Given the description of an element on the screen output the (x, y) to click on. 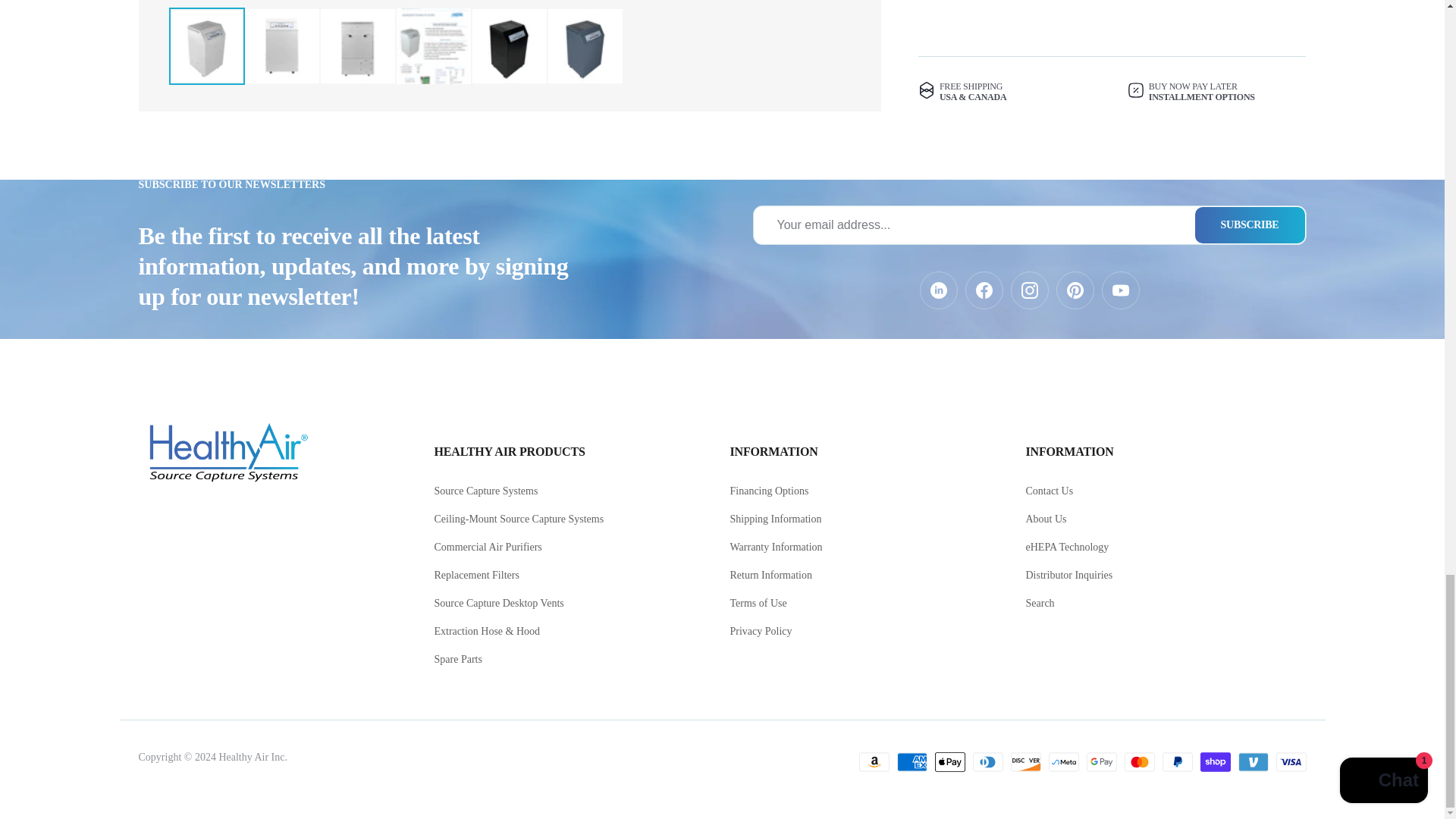
Instagram (1029, 290)
Pinterest (1074, 290)
YouTube (1119, 290)
LinkedIn (937, 290)
Facebook (983, 290)
